Given the description of an element on the screen output the (x, y) to click on. 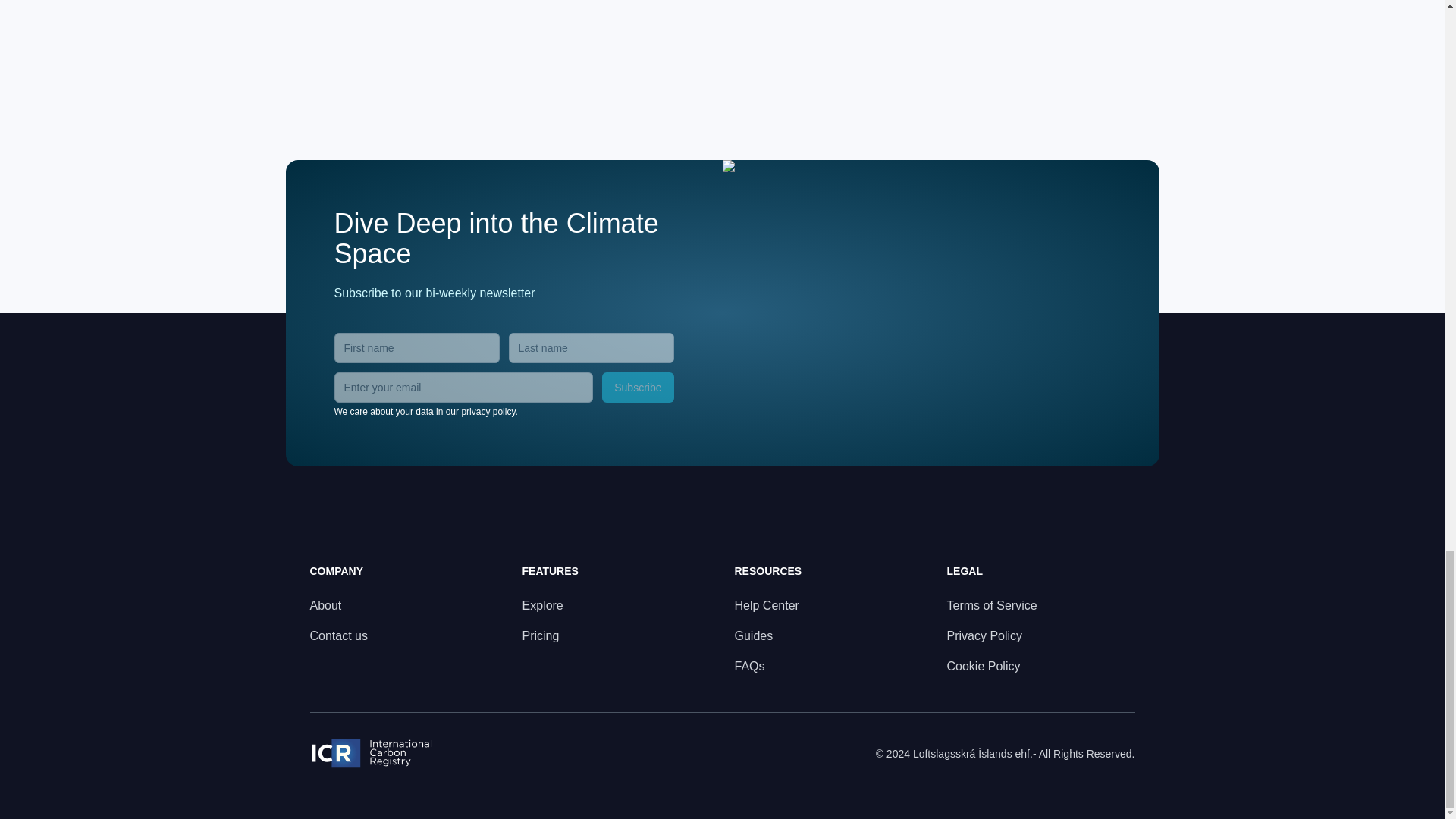
Explore (541, 604)
privacy policy. (488, 411)
Guides (753, 635)
Subscribe (637, 387)
Cookie Policy (983, 666)
Contact us (337, 635)
About (324, 604)
Privacy Policy (984, 635)
Help Center (765, 604)
Terms of Service (991, 604)
